Given the description of an element on the screen output the (x, y) to click on. 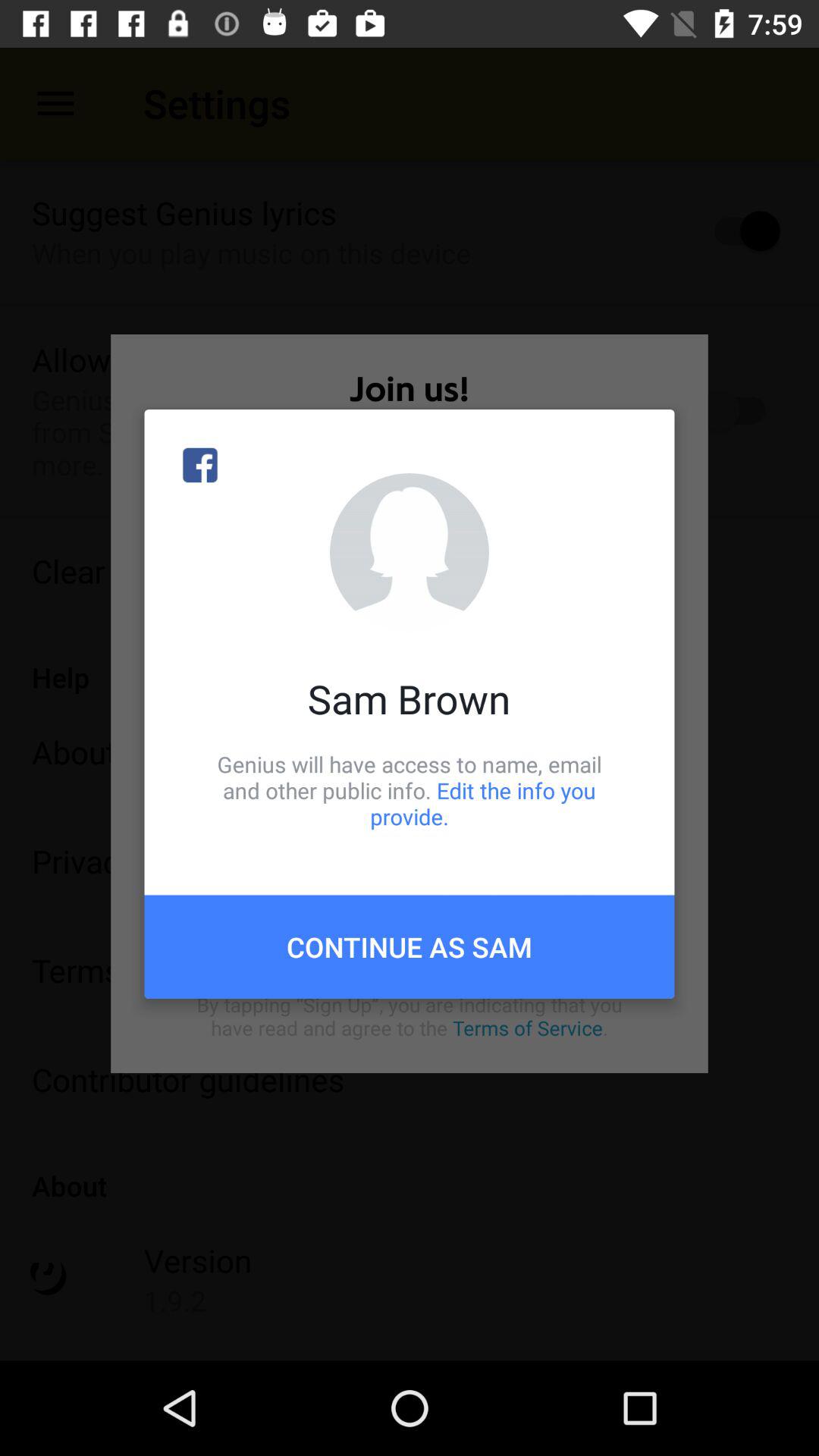
open the item below genius will have item (409, 946)
